Given the description of an element on the screen output the (x, y) to click on. 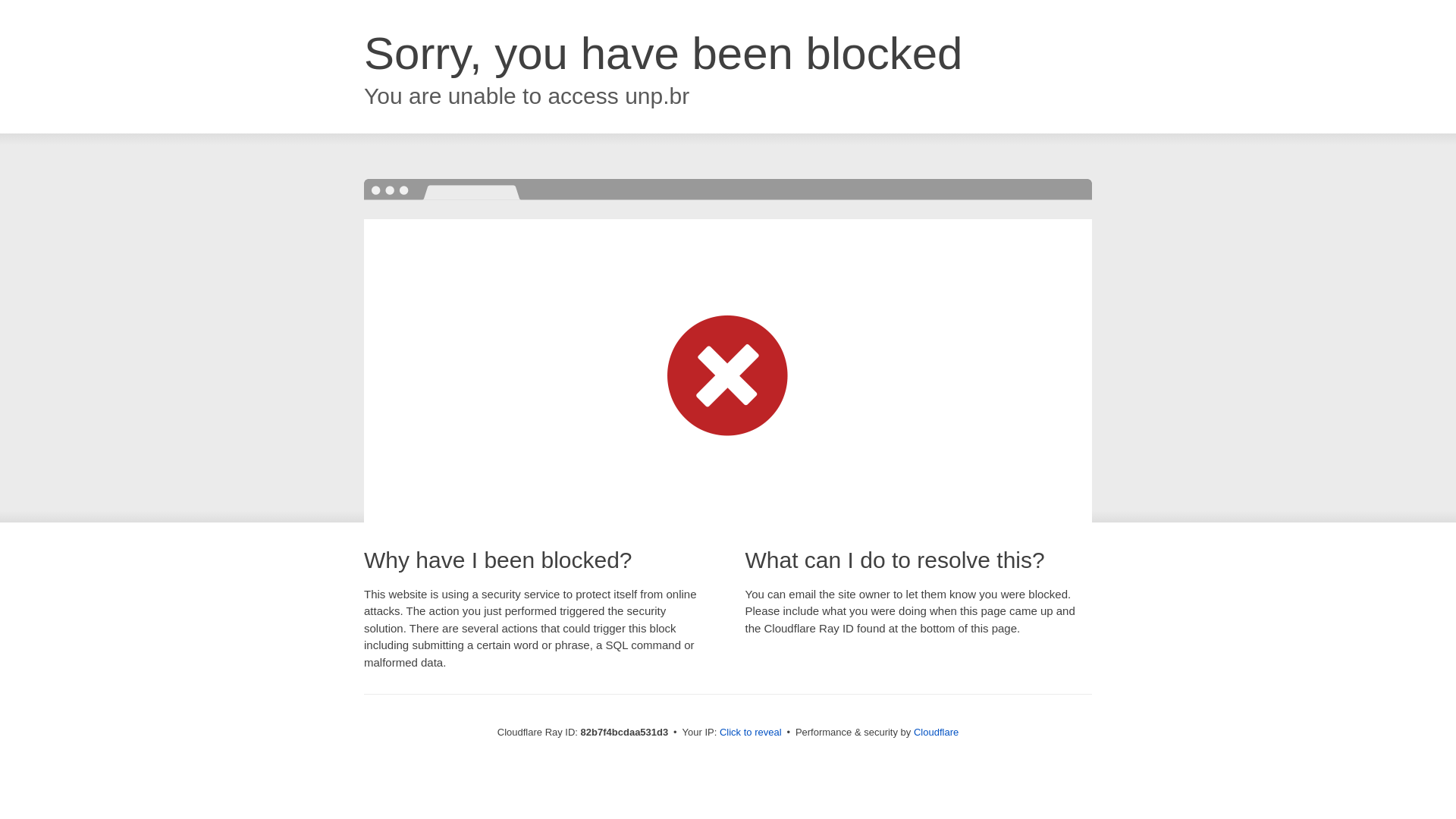
Cloudflare Element type: text (935, 731)
Click to reveal Element type: text (750, 732)
